Given the description of an element on the screen output the (x, y) to click on. 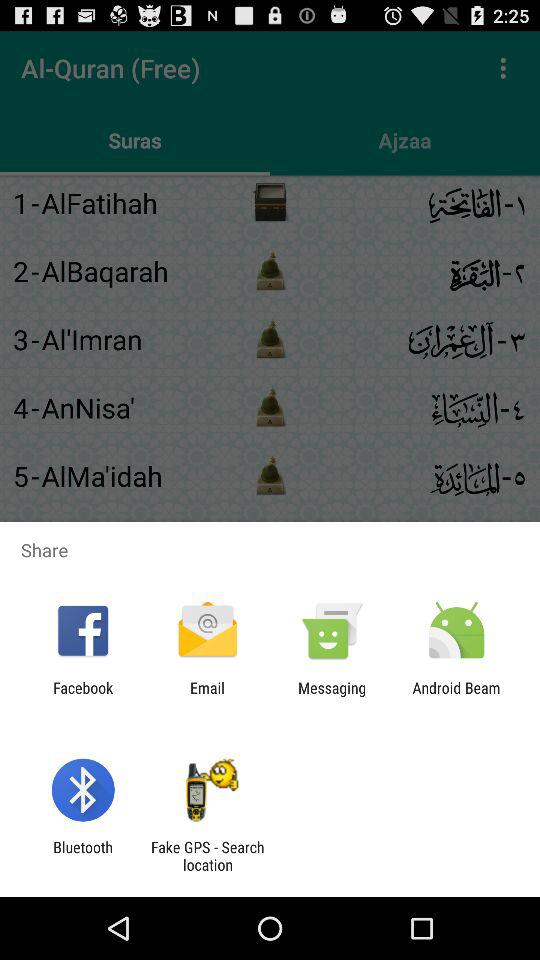
turn on item to the left of the email (83, 696)
